Given the description of an element on the screen output the (x, y) to click on. 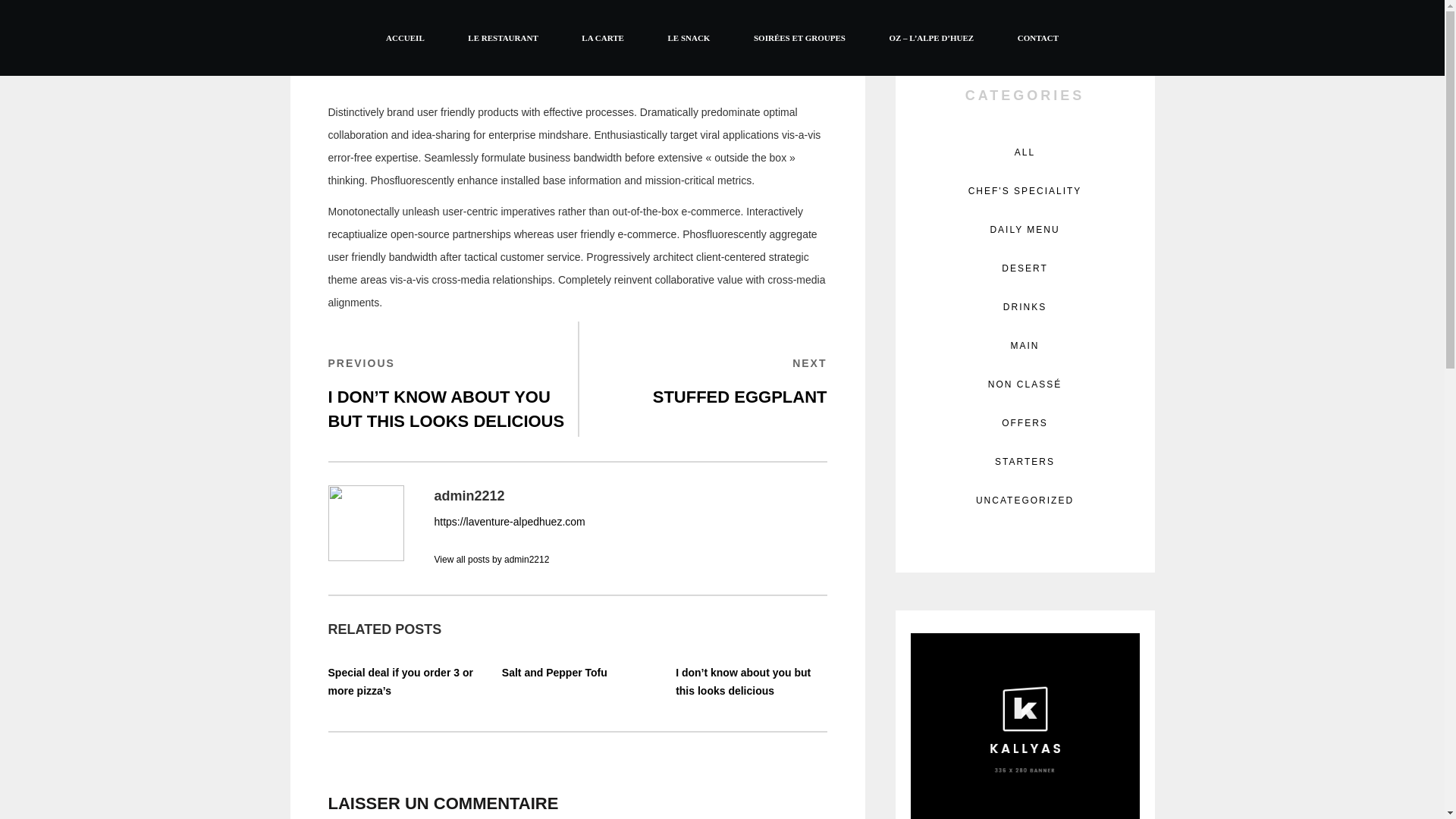
LE SNACK (689, 37)
STARTERS (1024, 461)
View all posts by admin2212 (490, 559)
DRINKS (703, 381)
OFFERS (1024, 306)
UNCATEGORIZED (1024, 422)
LE RESTAURANT (1024, 499)
Salt and Pepper Tofu (503, 37)
ADMIN2212 (554, 672)
ACCUEIL (412, 70)
DAILY MENU (404, 37)
CONTACT (1024, 229)
ALL (1037, 37)
DESERT (1024, 151)
